Given the description of an element on the screen output the (x, y) to click on. 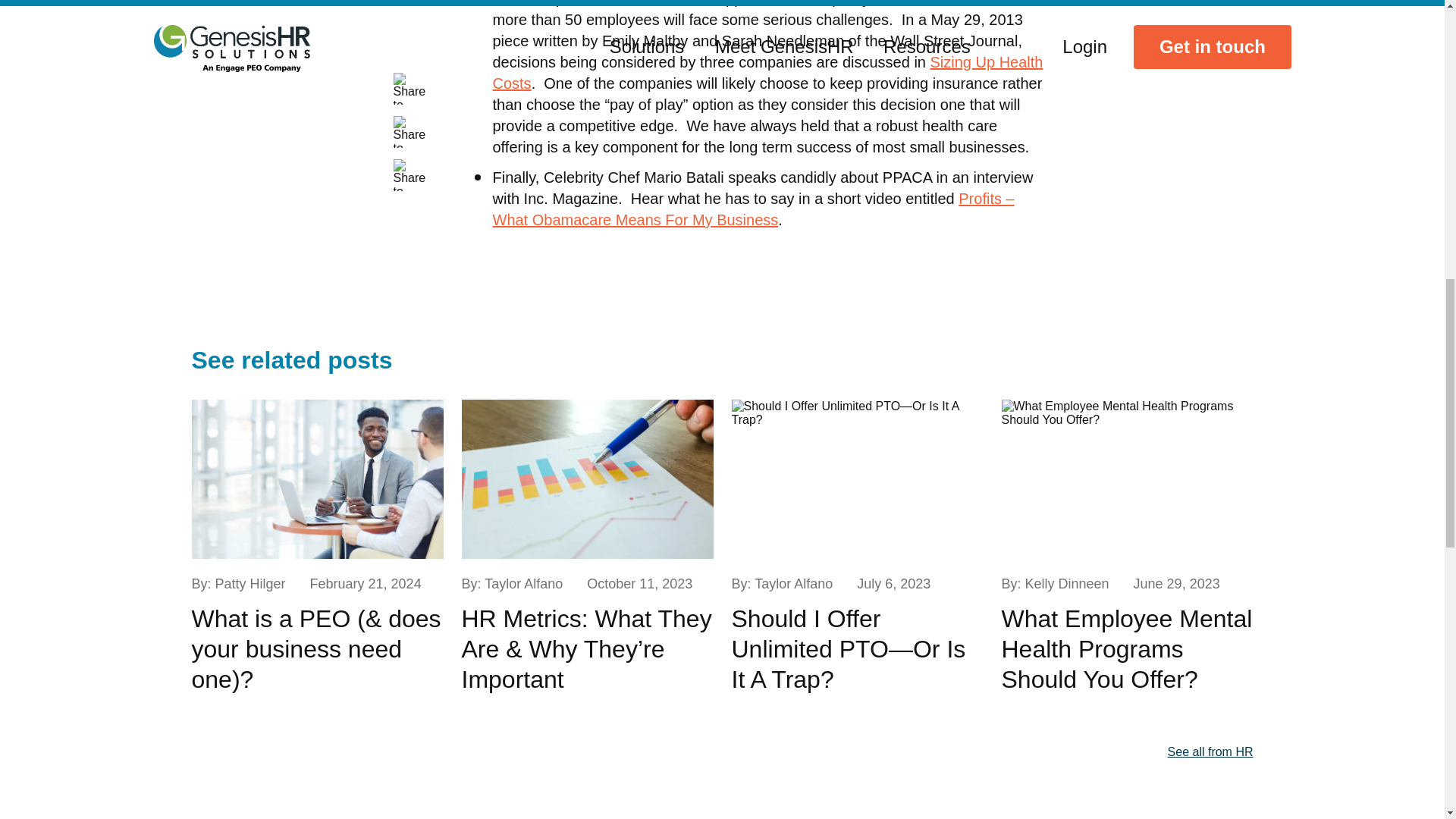
See all from HR (1210, 751)
Sizing Up Health Costs (768, 72)
What Employee Mental Health Programs Should You Offer? (1126, 648)
